Given the description of an element on the screen output the (x, y) to click on. 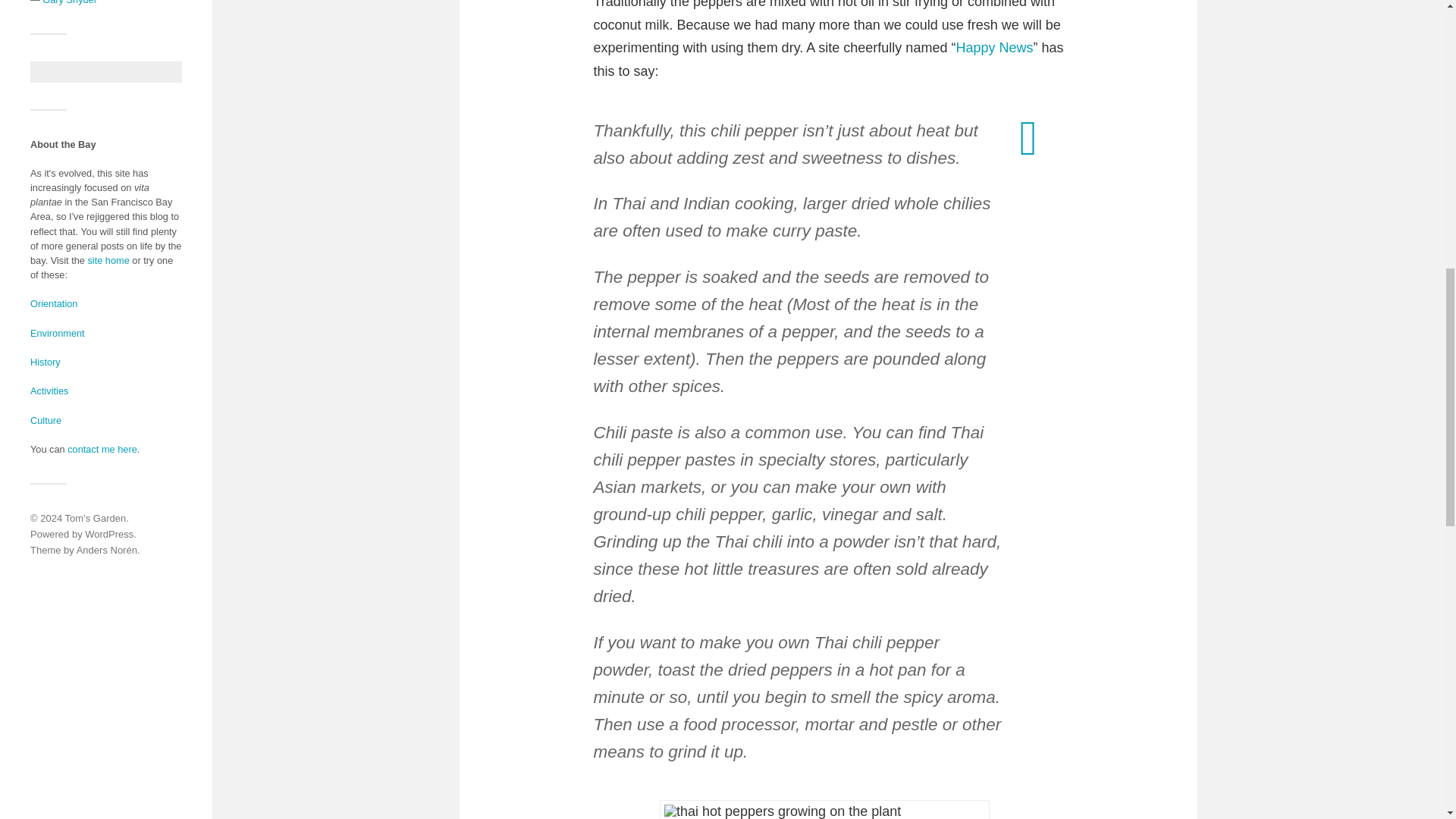
WordPress (108, 533)
Culture (45, 419)
Environment (57, 333)
Orientation (53, 303)
happy news (993, 47)
Happy News (993, 47)
History (45, 361)
site home (108, 260)
contact me here (101, 449)
Gary Snyder (69, 2)
Activities (49, 390)
thai hot peppers growing on the plant (824, 809)
